Given the description of an element on the screen output the (x, y) to click on. 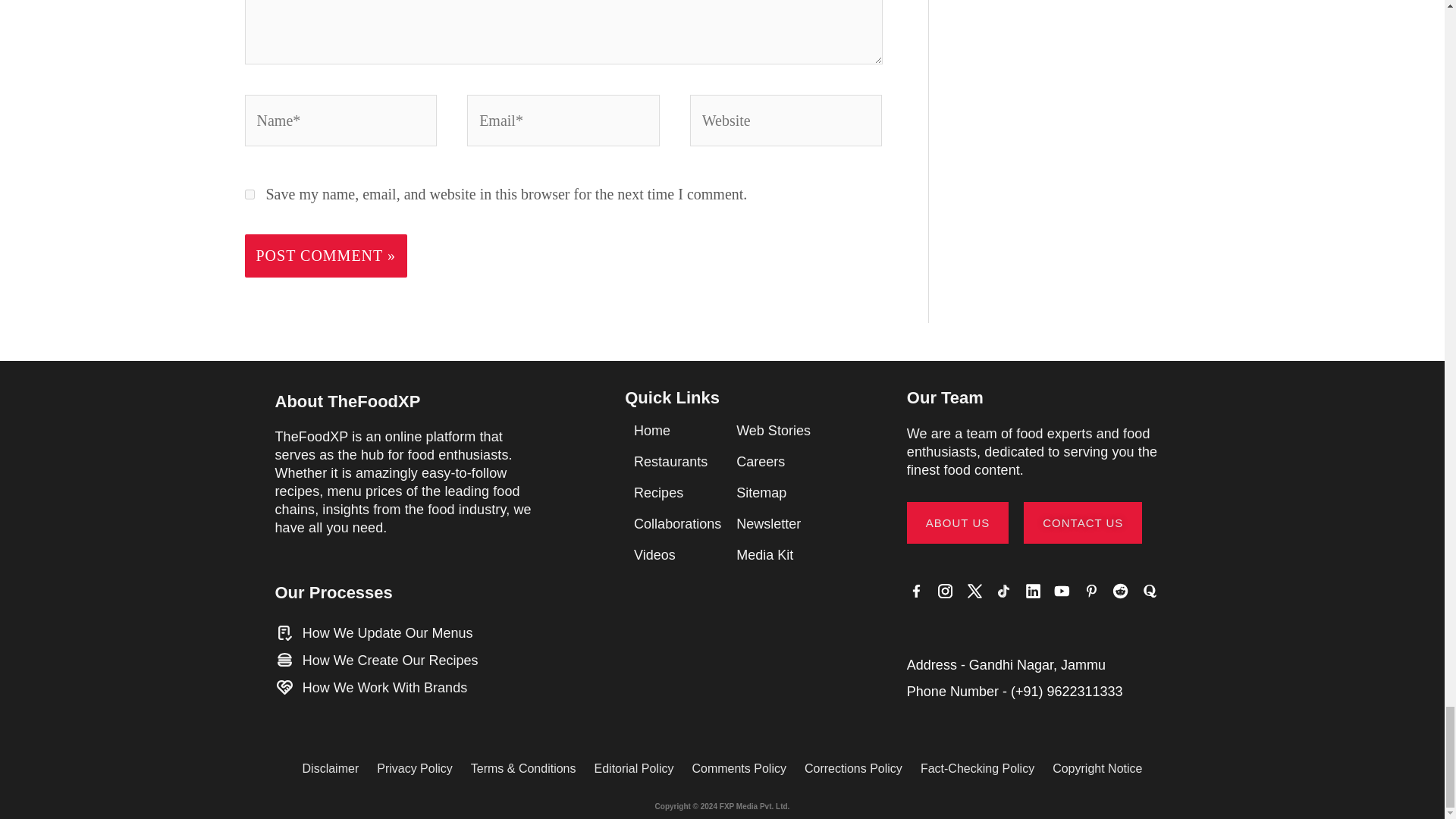
yes (248, 194)
